Given the description of an element on the screen output the (x, y) to click on. 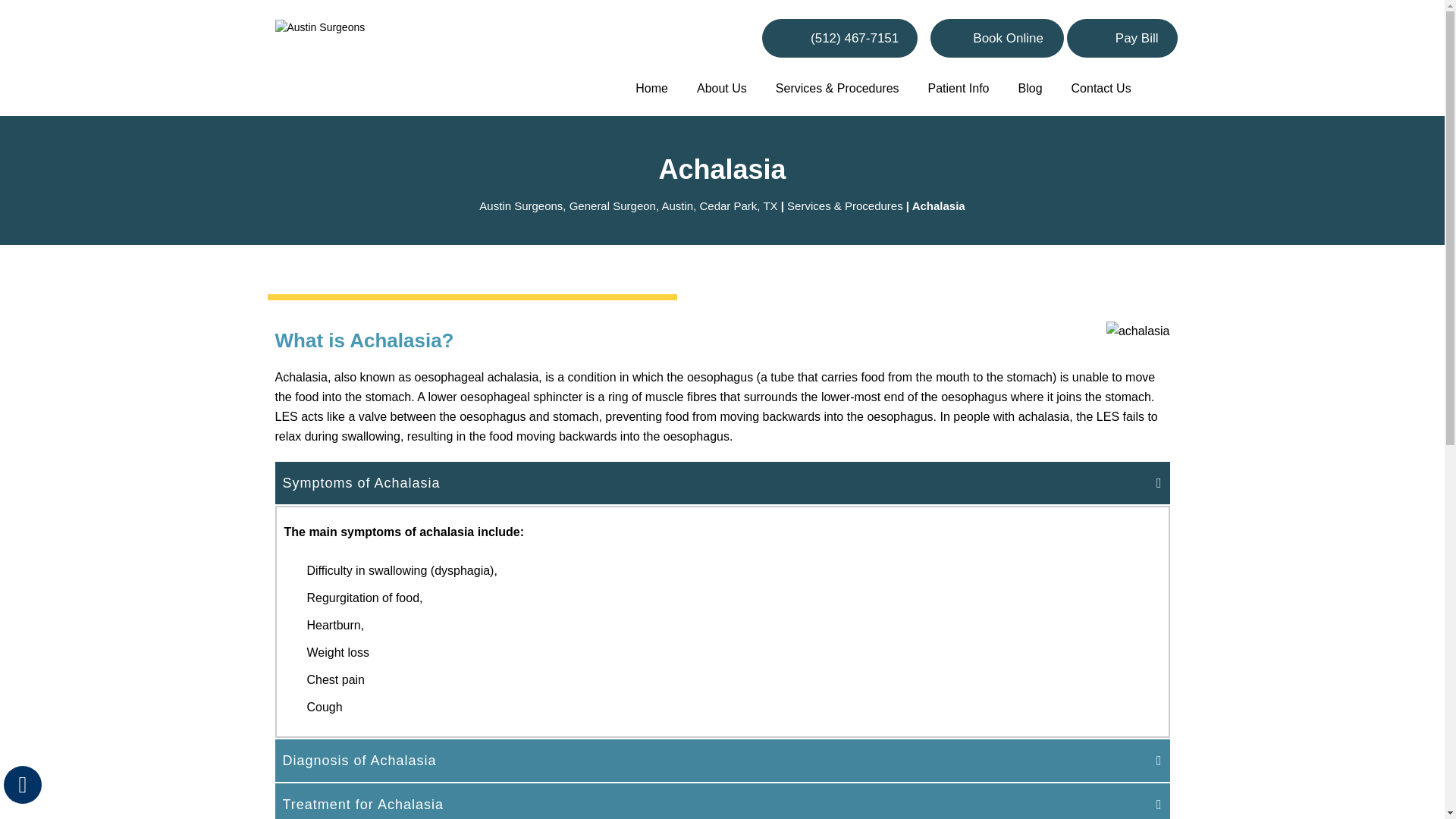
Home (651, 90)
Hide (22, 784)
Pay Bill (1122, 37)
Accessible Tool Options (23, 784)
About Us (721, 90)
Book Online (997, 37)
